Given the description of an element on the screen output the (x, y) to click on. 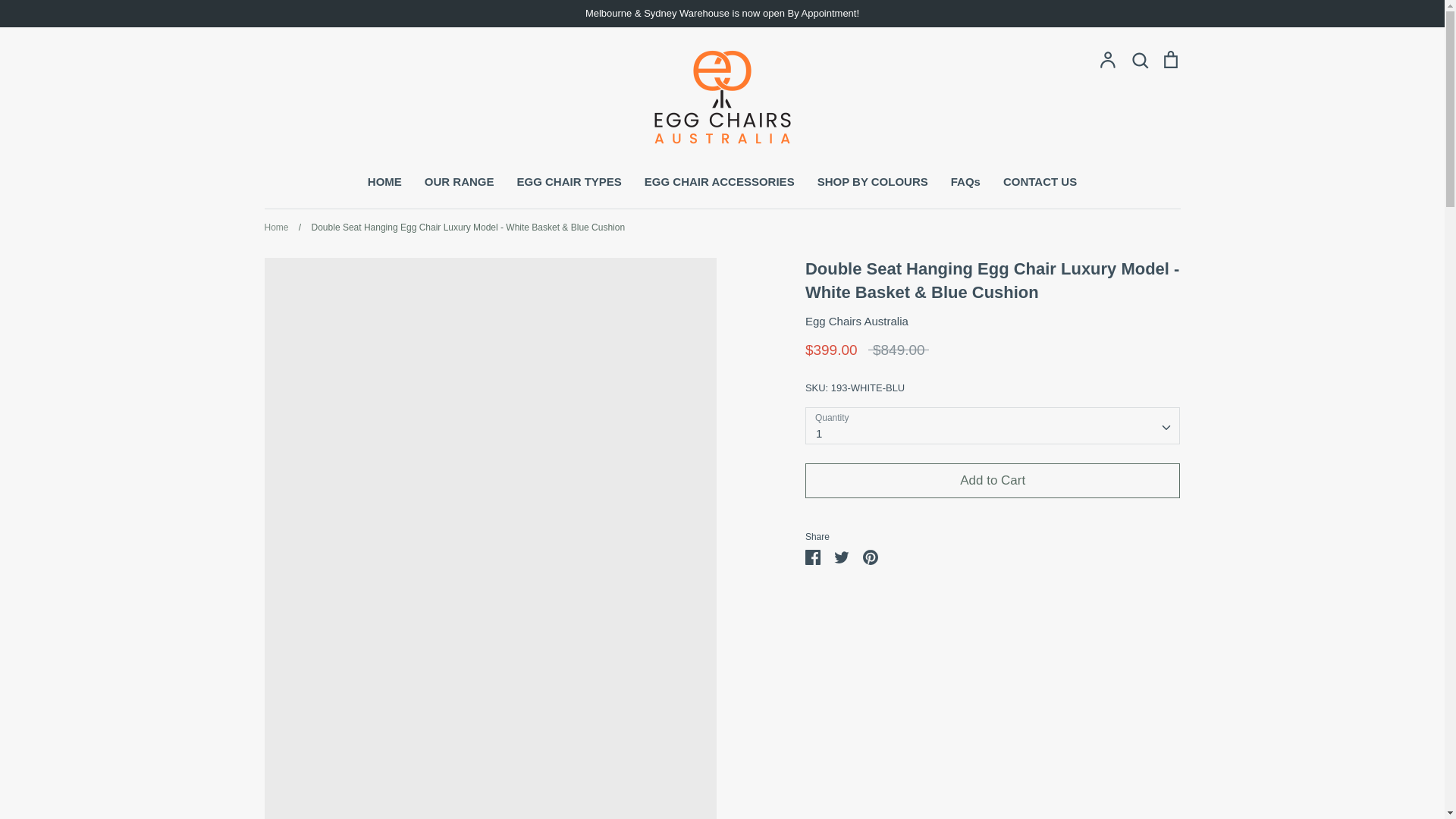
EGG CHAIR TYPES (568, 181)
Search (1139, 59)
1 (992, 425)
OUR RANGE (460, 181)
Account (1107, 59)
HOME (384, 181)
Cart (1169, 59)
